Given the description of an element on the screen output the (x, y) to click on. 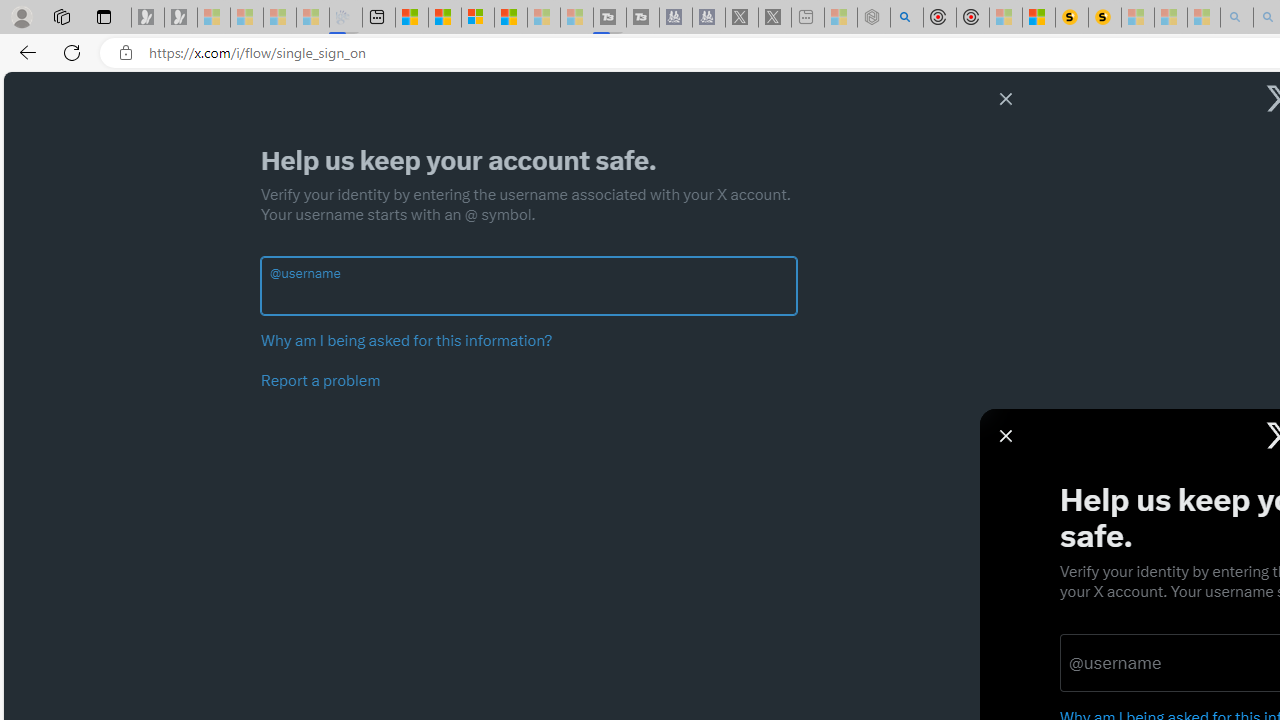
New tab - Sleeping (808, 17)
X - Sleeping (775, 17)
Report a problem (321, 381)
